Given the description of an element on the screen output the (x, y) to click on. 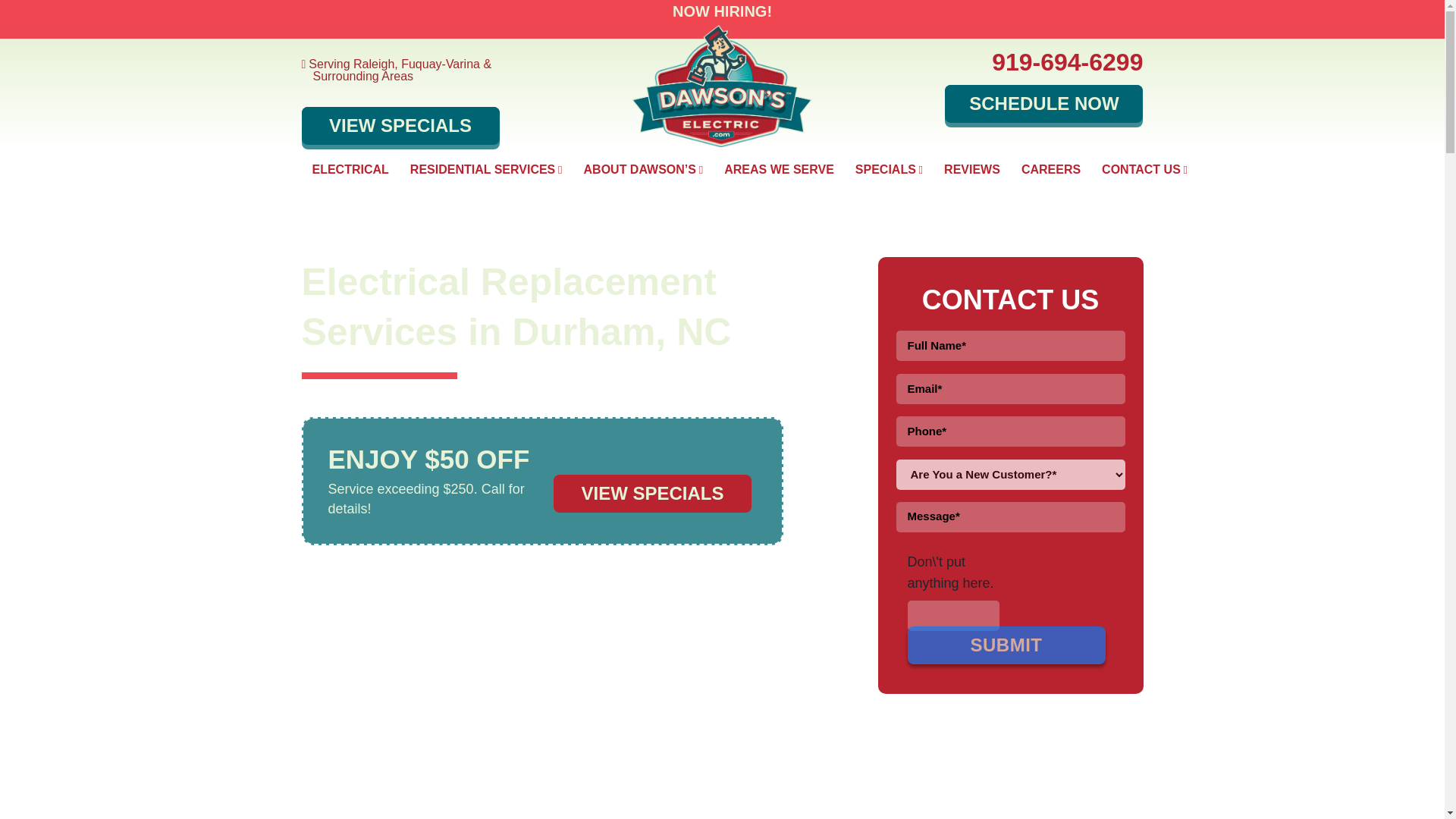
Submit (1006, 645)
Submit (1006, 645)
ELECTRICAL (349, 169)
CONTACT US (1144, 169)
VIEW SPECIALS (652, 493)
CAREERS (1050, 169)
RESIDENTIAL SERVICES (485, 169)
919-694-6299 (1066, 62)
NOW HIRING! (721, 11)
REVIEWS (971, 169)
